Given the description of an element on the screen output the (x, y) to click on. 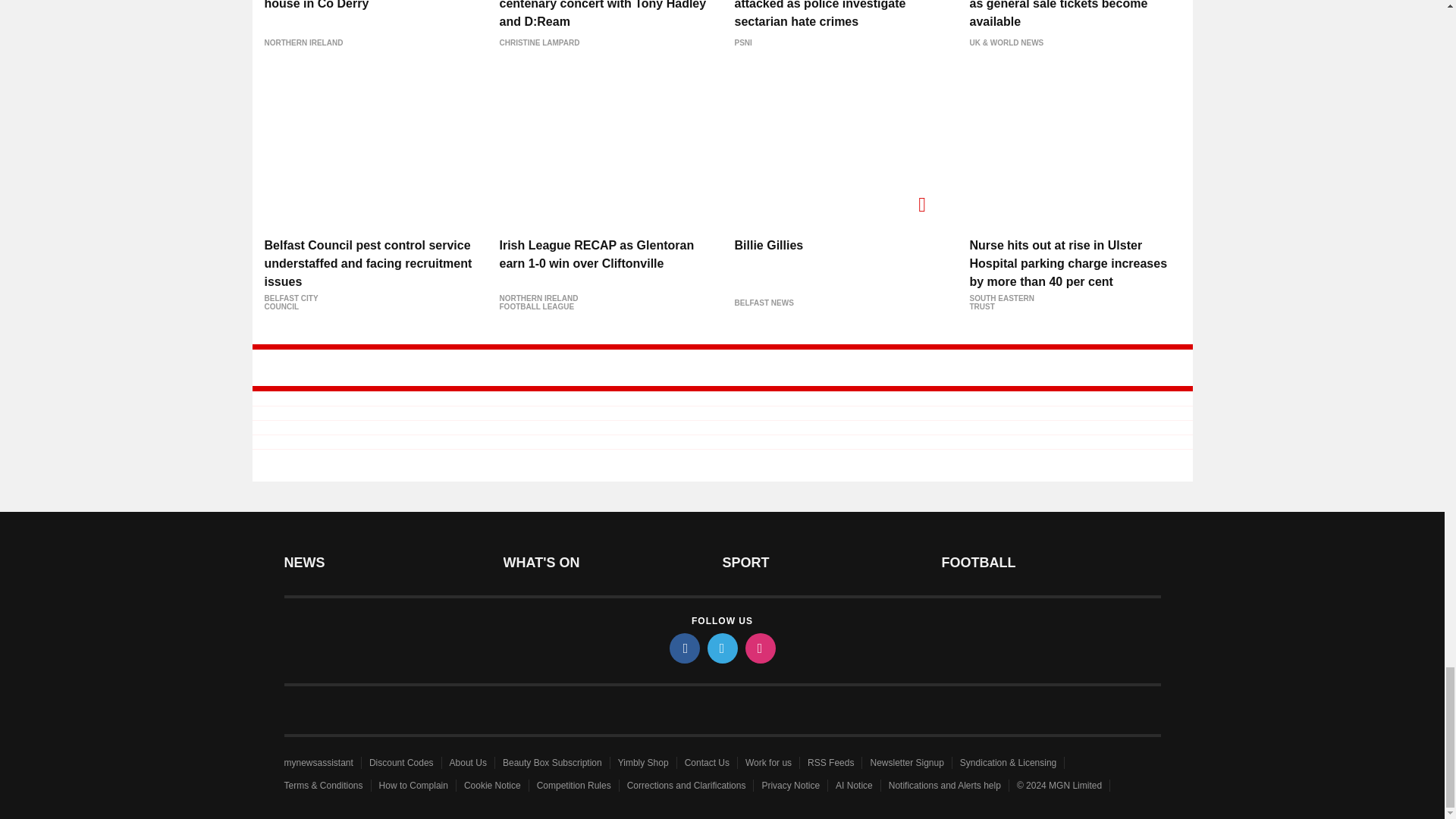
facebook (683, 648)
instagram (759, 648)
twitter (721, 648)
